Given the description of an element on the screen output the (x, y) to click on. 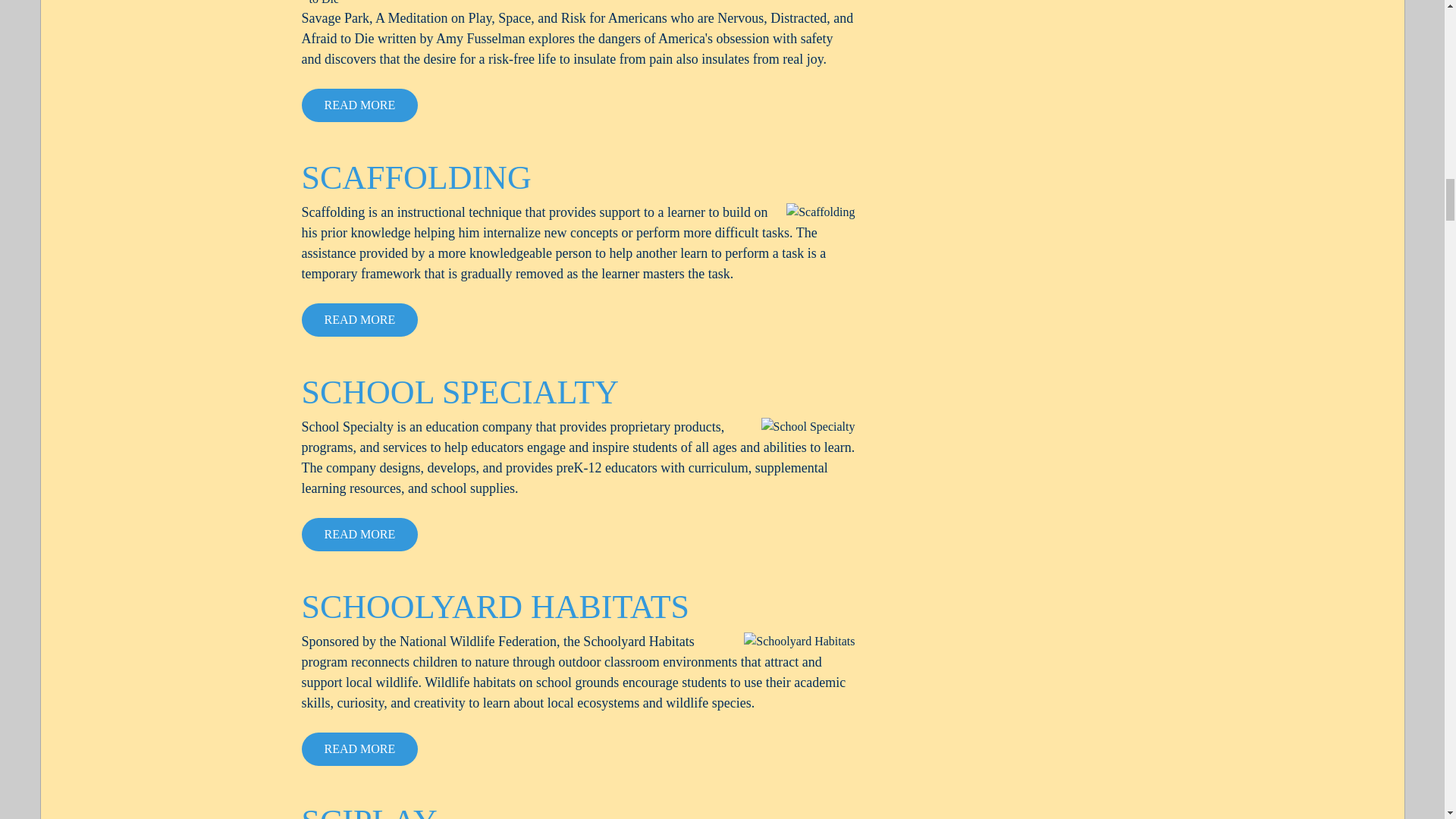
School Specialty (808, 426)
Scaffolding (820, 212)
Schoolyard Habitats (799, 641)
